Given the description of an element on the screen output the (x, y) to click on. 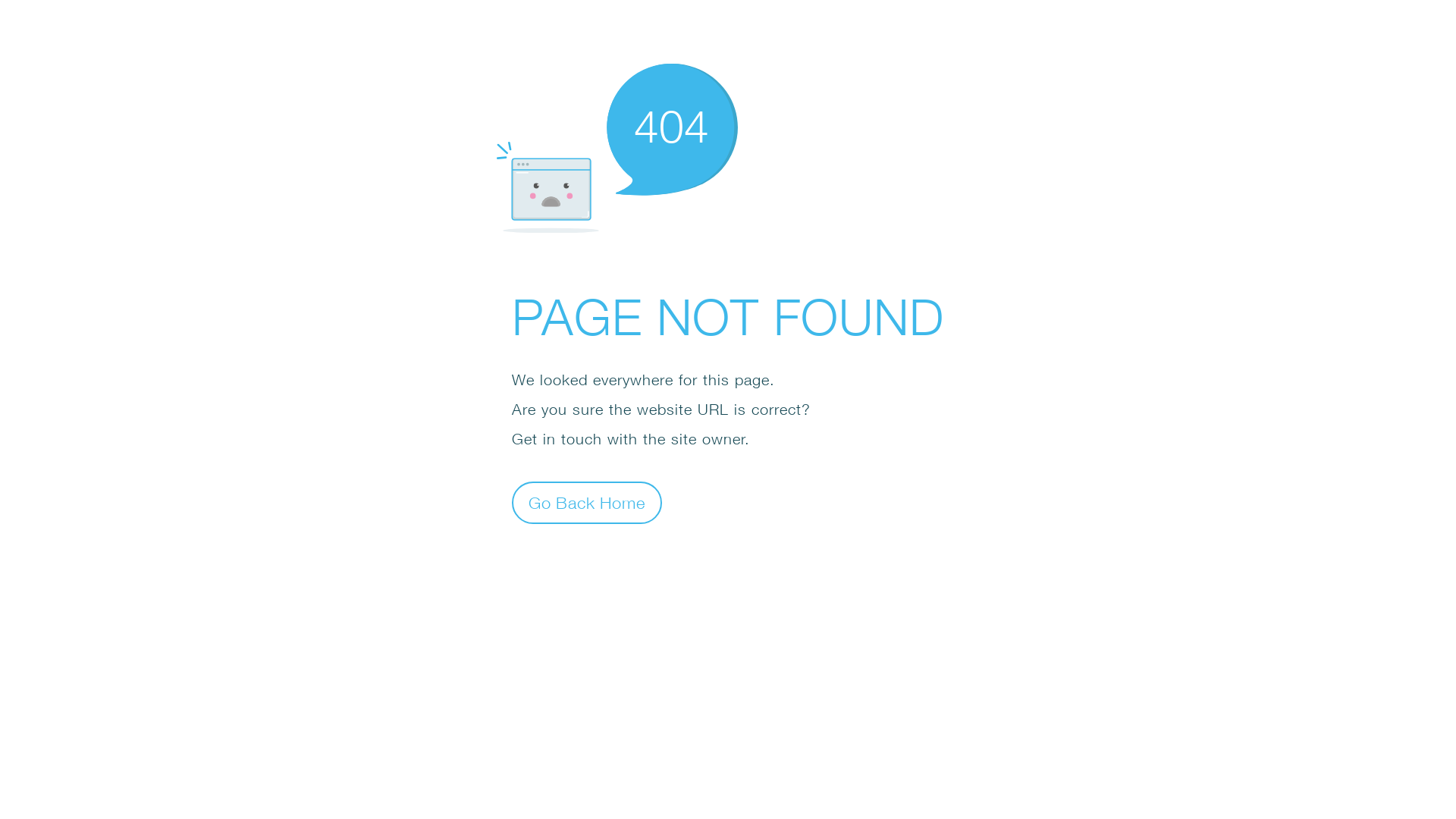
Go Back Home Element type: text (586, 502)
